Given the description of an element on the screen output the (x, y) to click on. 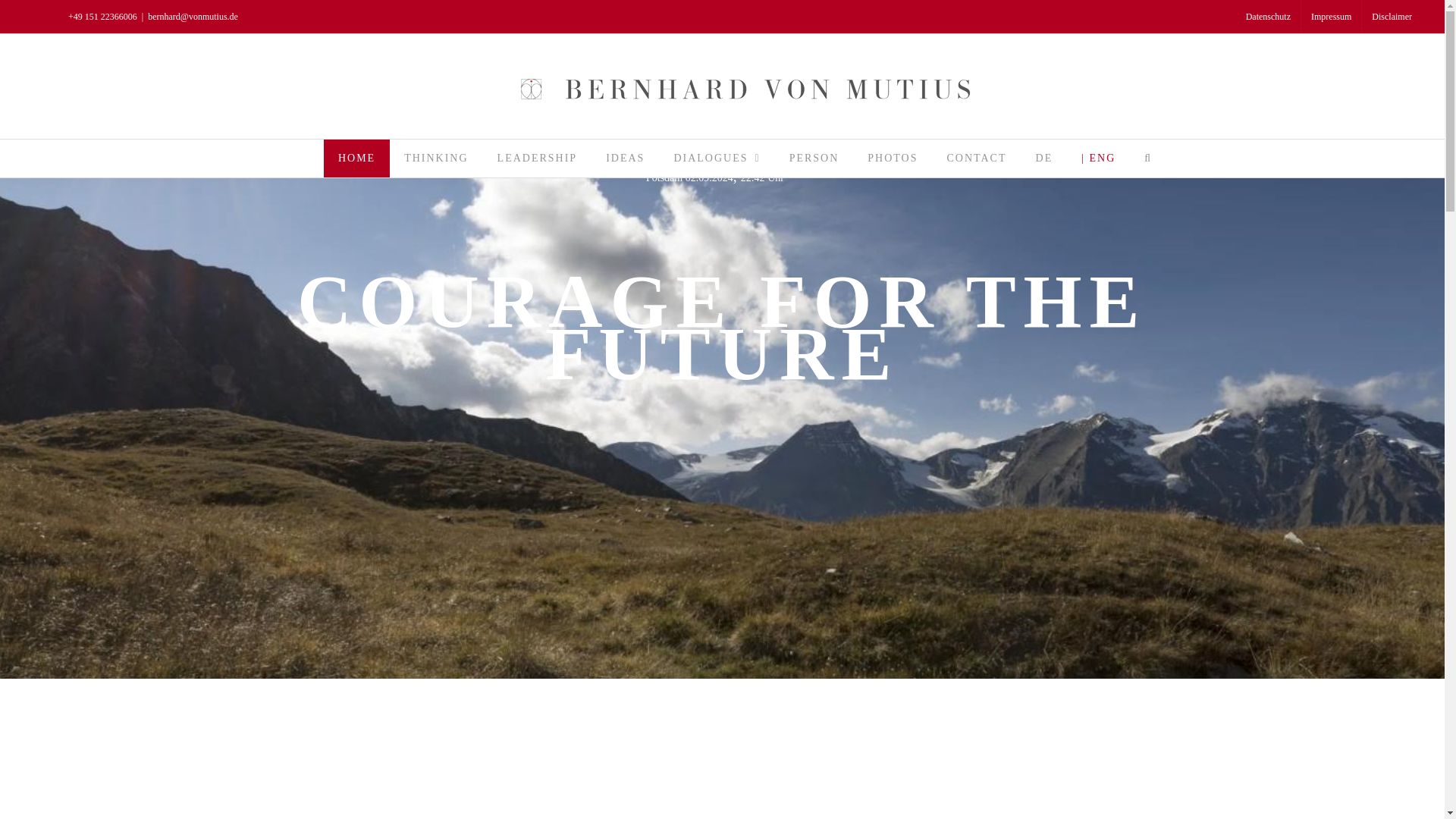
DE (1044, 158)
CONTACT (977, 158)
LEADERSHIP (537, 158)
DIALOGUES (716, 158)
THINKING (435, 158)
PERSON (813, 158)
Impressum (1331, 16)
IDEAS (625, 158)
PHOTOS (892, 158)
DE (1044, 158)
